Given the description of an element on the screen output the (x, y) to click on. 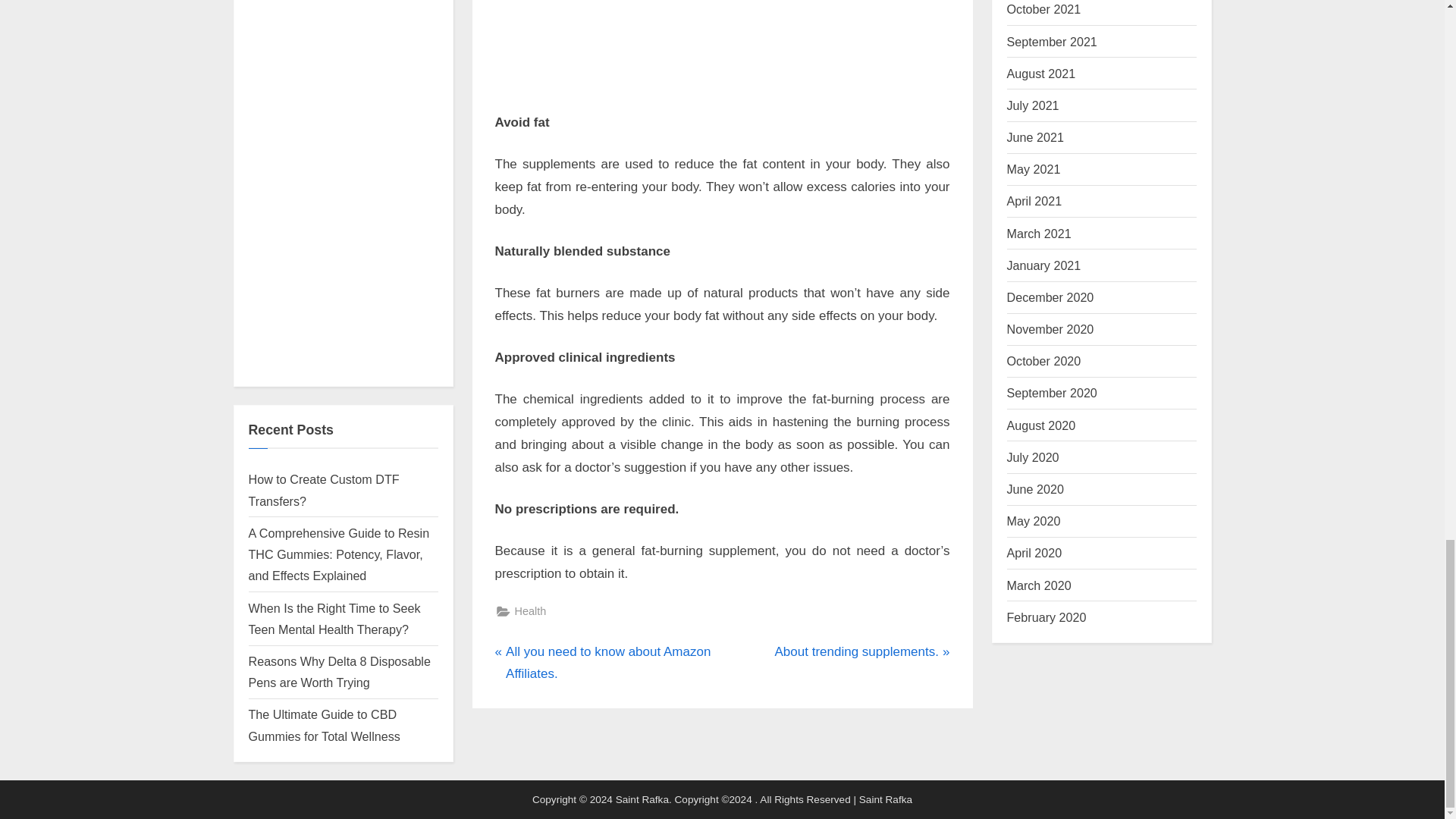
Health (529, 610)
